Given the description of an element on the screen output the (x, y) to click on. 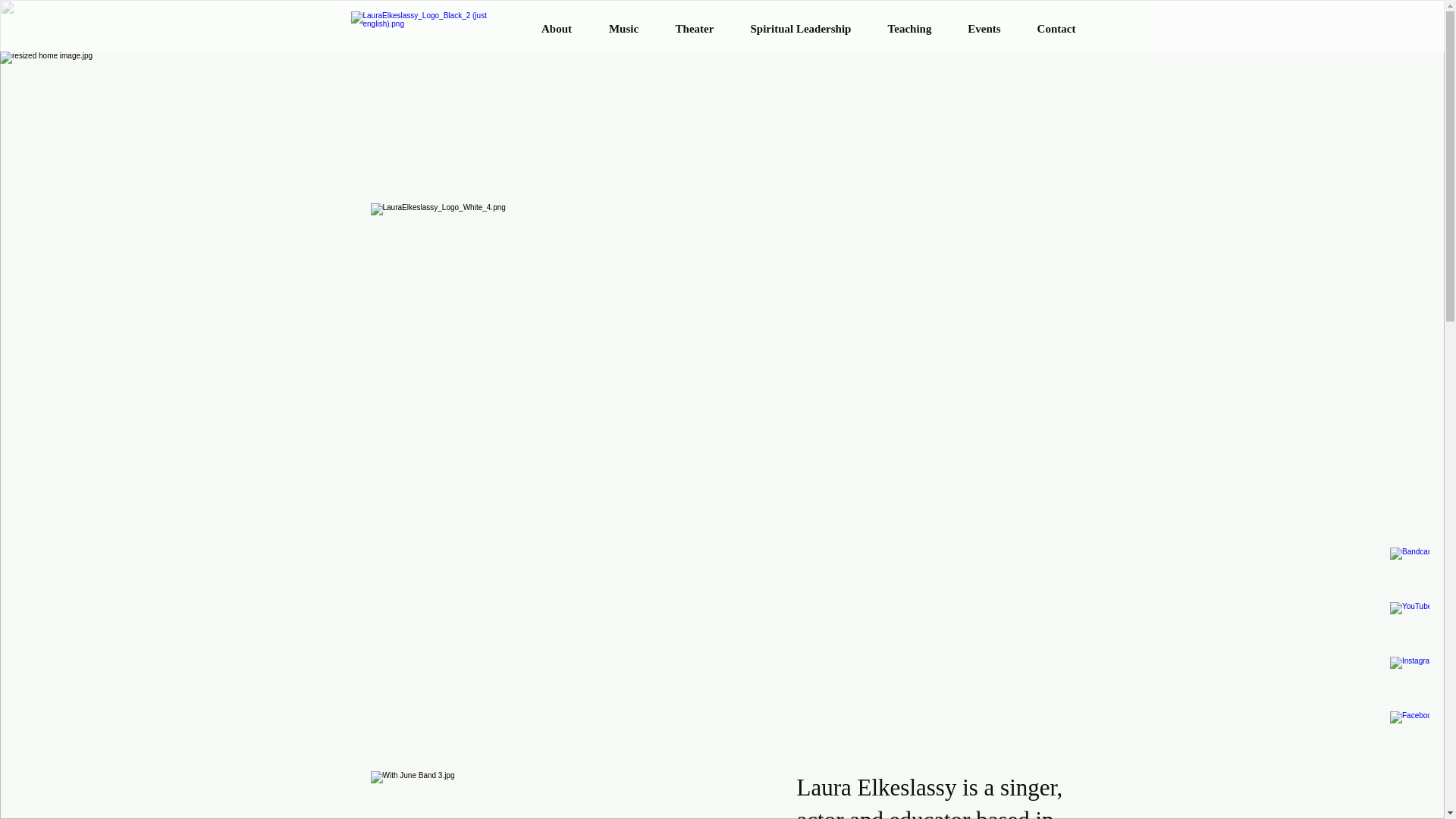
About (556, 28)
Music (622, 28)
Contact (1056, 28)
Spiritual Leadership (800, 28)
Teaching (909, 28)
Events (983, 28)
Theater (694, 28)
